Given the description of an element on the screen output the (x, y) to click on. 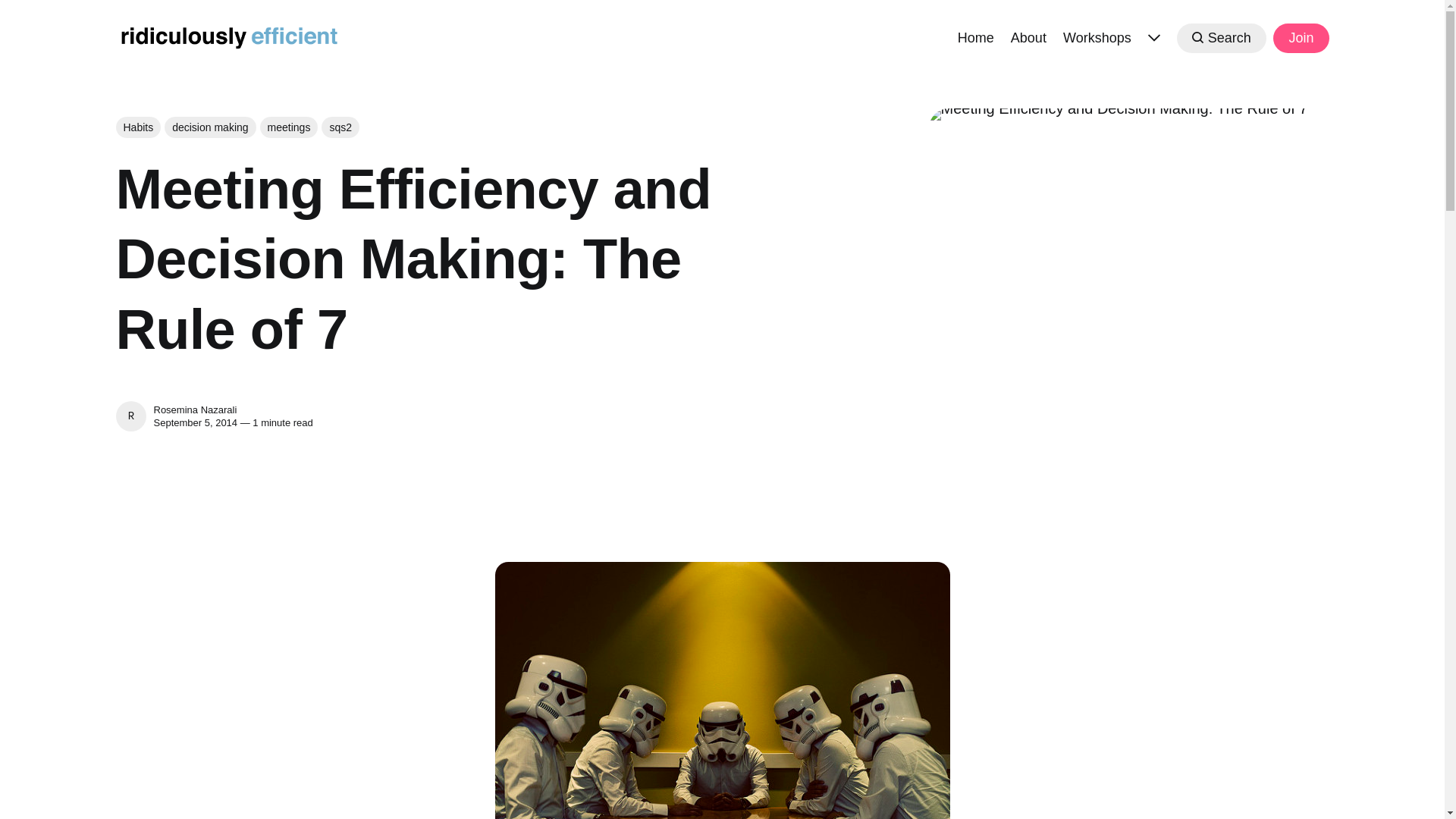
decision making (210, 127)
Workshops (1096, 37)
meetings (289, 127)
sqs2 (340, 127)
Home (976, 37)
Rosemina Nazarali (193, 409)
Join (1299, 37)
Rosemina Nazarali (130, 416)
About (1028, 37)
Habits (137, 127)
